Given the description of an element on the screen output the (x, y) to click on. 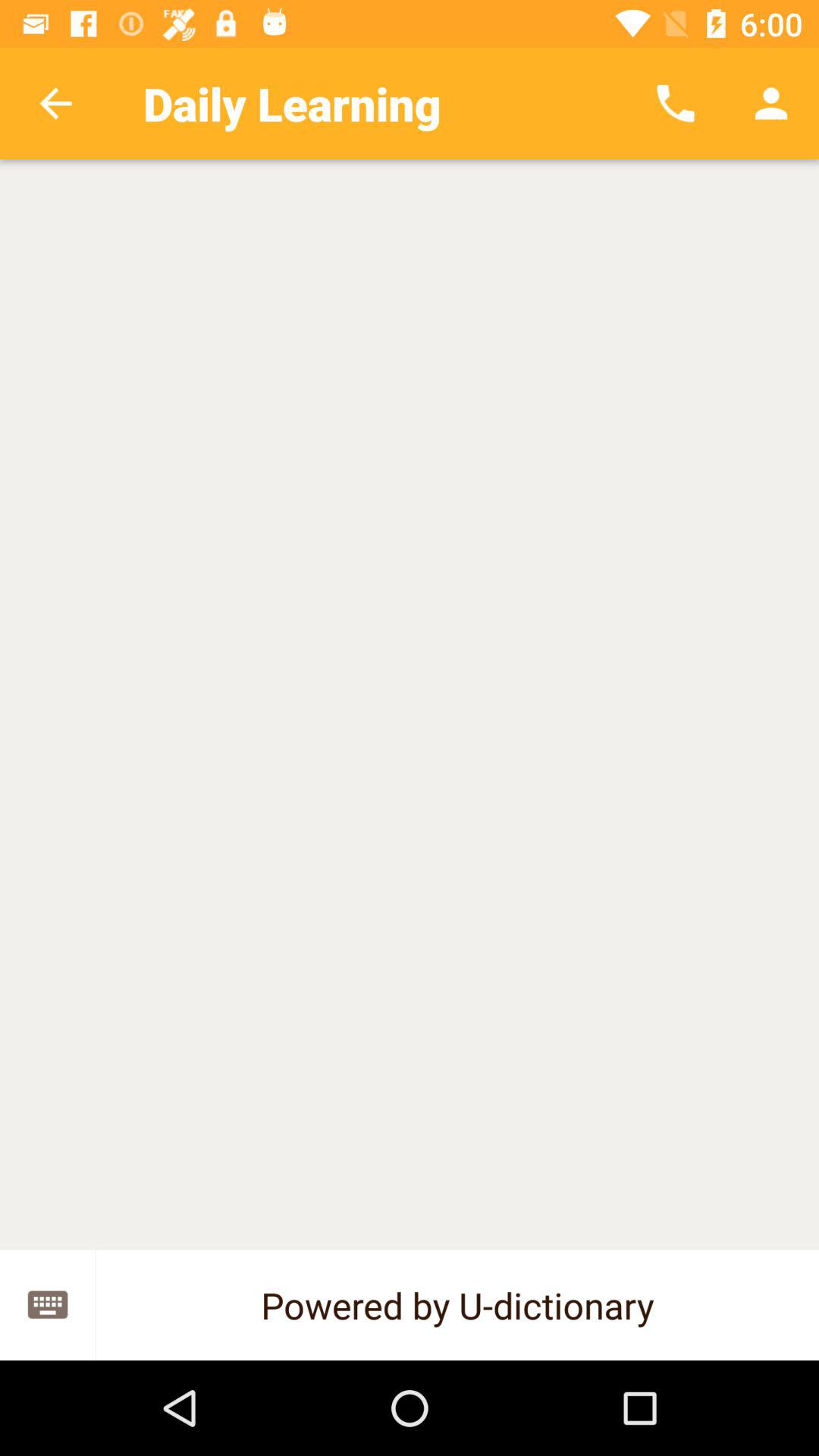
click the item to the left of daily learning item (55, 103)
